Given the description of an element on the screen output the (x, y) to click on. 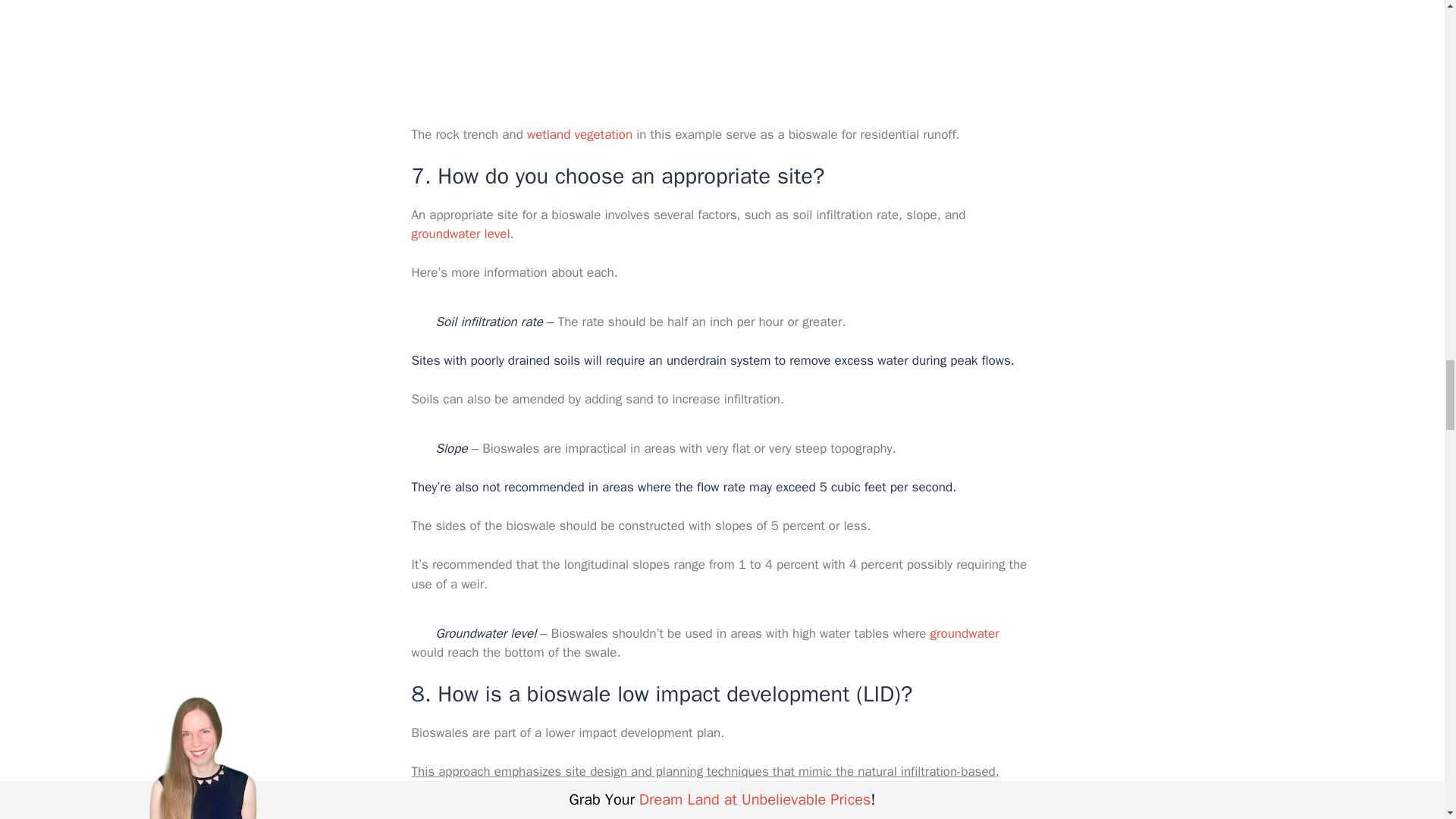
groundwater (964, 633)
wetland vegetation (576, 134)
groundwater level (459, 233)
